Given the description of an element on the screen output the (x, y) to click on. 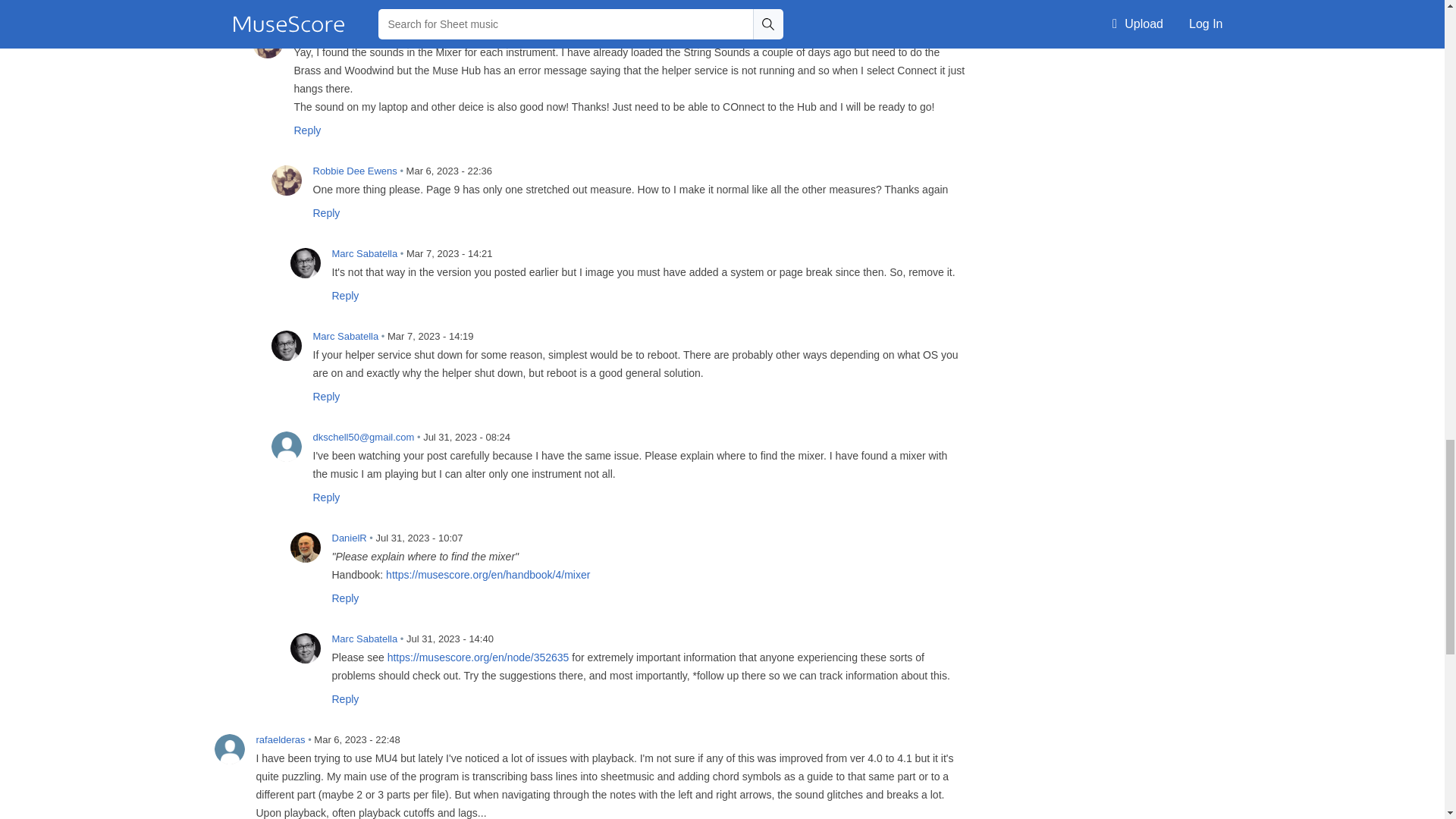
Robbie Dee Ewens (266, 42)
